Given the description of an element on the screen output the (x, y) to click on. 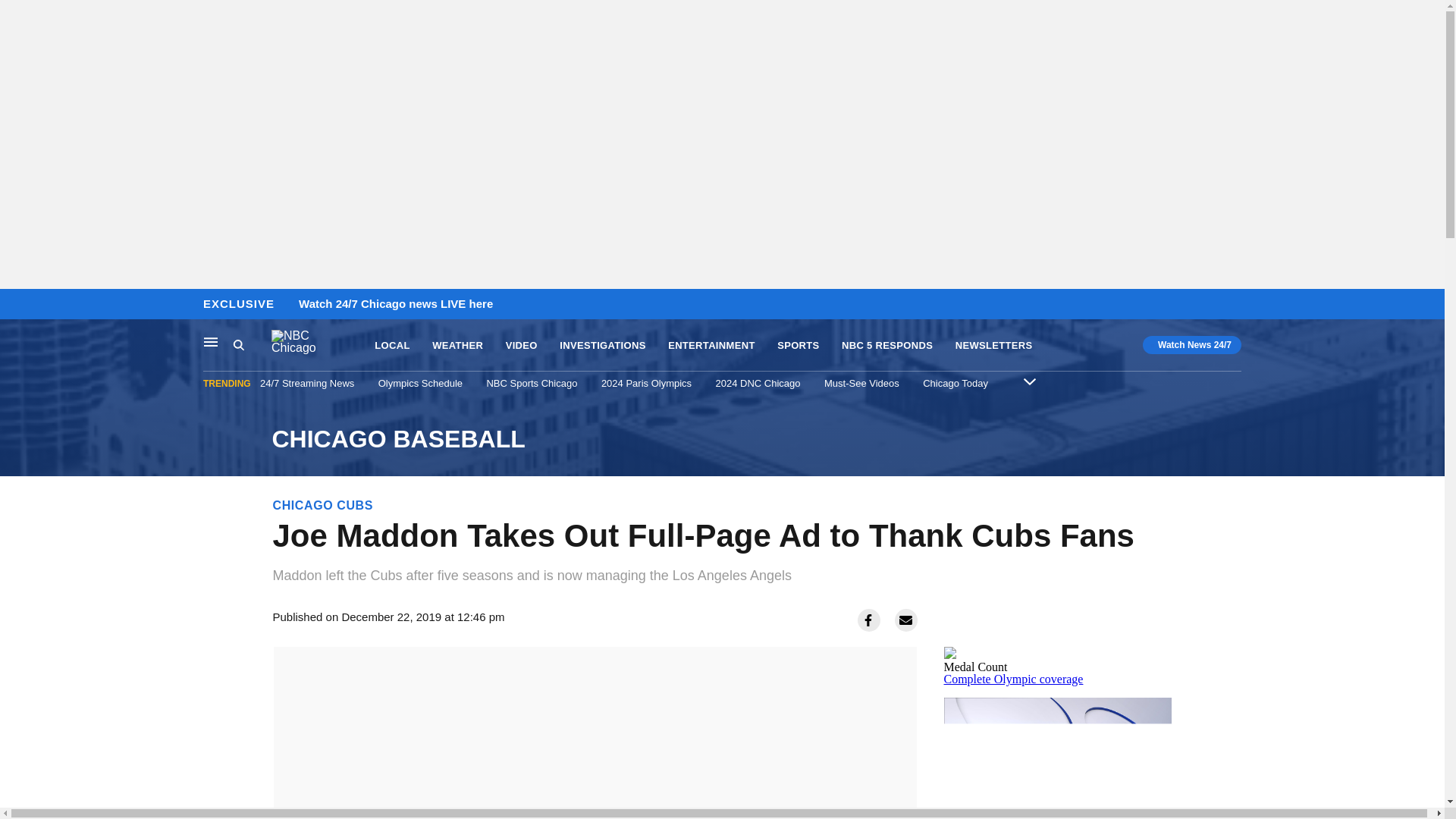
WEATHER (457, 345)
NEWSLETTERS (993, 345)
Search (238, 344)
ENTERTAINMENT (711, 345)
Main Navigation (210, 341)
NBC 5 RESPONDS (887, 345)
CHICAGO CUBS (323, 505)
2024 DNC Chicago (758, 383)
CHICAGO BASEBALL (721, 439)
Complete Olympic coverage (1013, 678)
Expand (1029, 381)
VIDEO (521, 345)
INVESTIGATIONS (602, 345)
LOCAL (391, 345)
NBC Sports Chicago (531, 383)
